Given the description of an element on the screen output the (x, y) to click on. 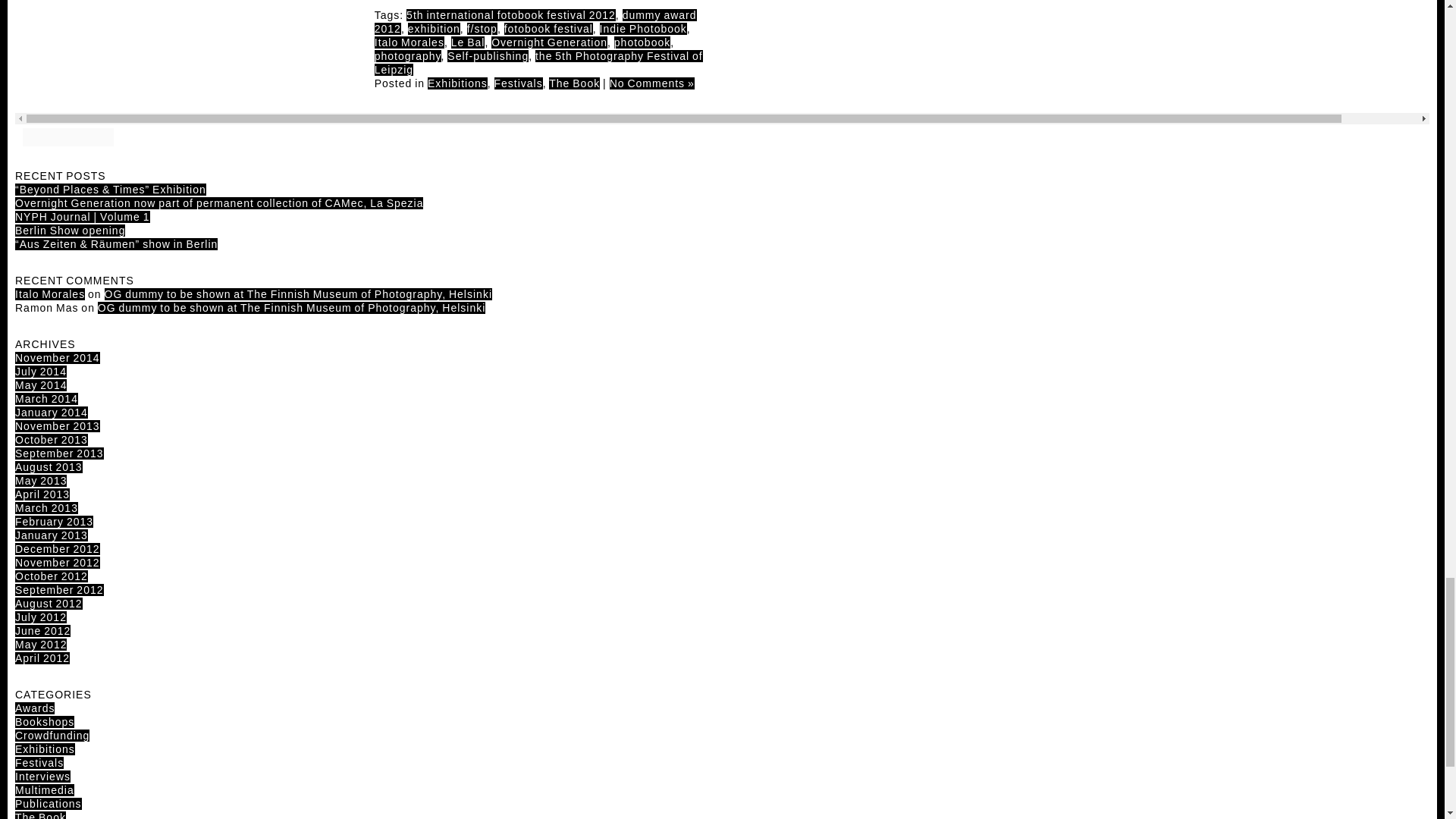
5th international fotobook festival 2012 (510, 15)
fotobook festival (547, 28)
Italo Morales (409, 42)
Search (154, 134)
dummy award 2012 (535, 22)
Indie Photobook (643, 28)
Le Bal (467, 42)
exhibition (433, 28)
